Given the description of an element on the screen output the (x, y) to click on. 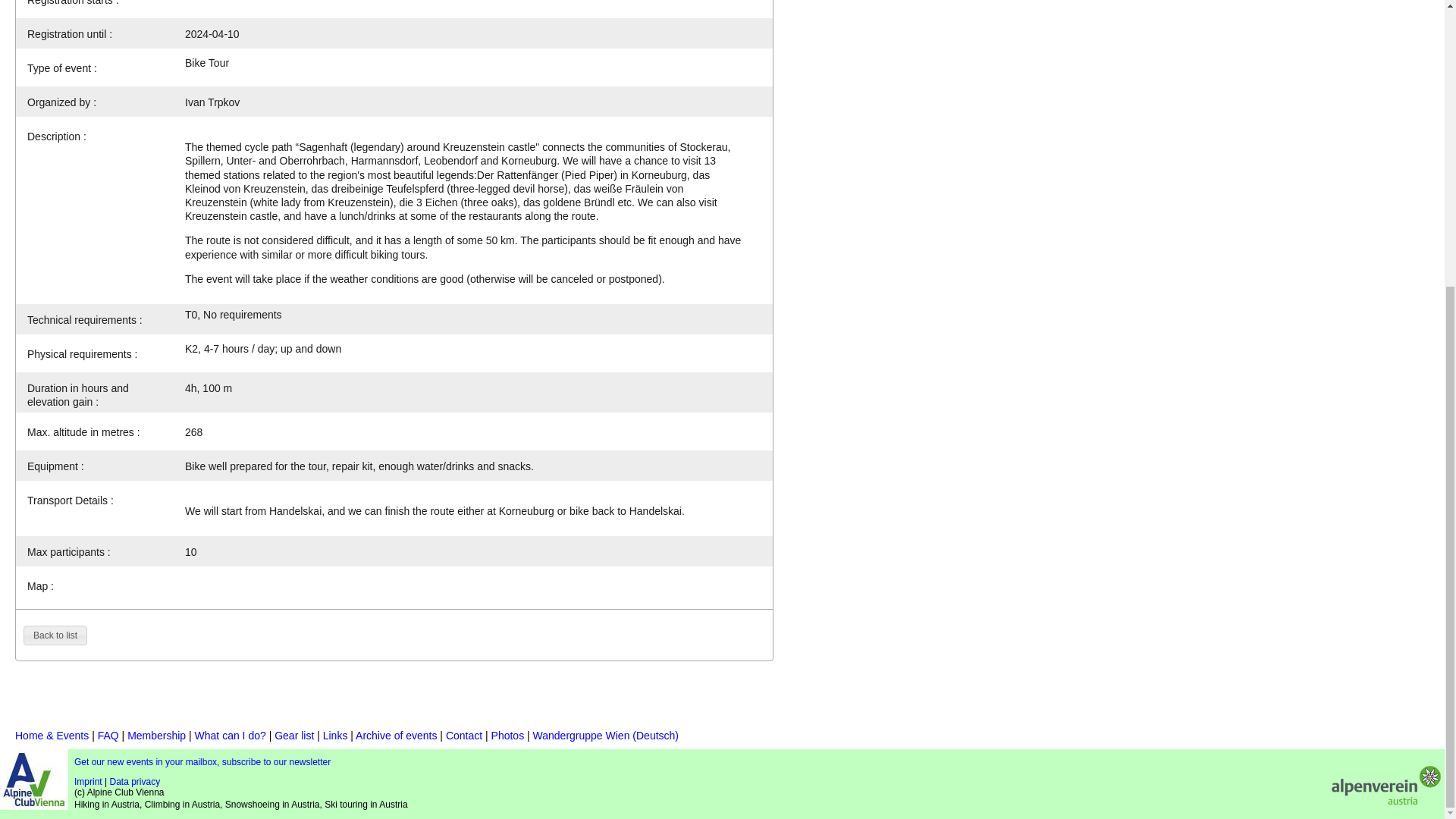
Archive of events (395, 735)
Links (335, 735)
Membership (157, 735)
Gear list (294, 735)
Imprint (87, 781)
Back to list (55, 635)
Photos (508, 735)
Contact (463, 735)
What can I do? (230, 735)
FAQ (108, 735)
